Given the description of an element on the screen output the (x, y) to click on. 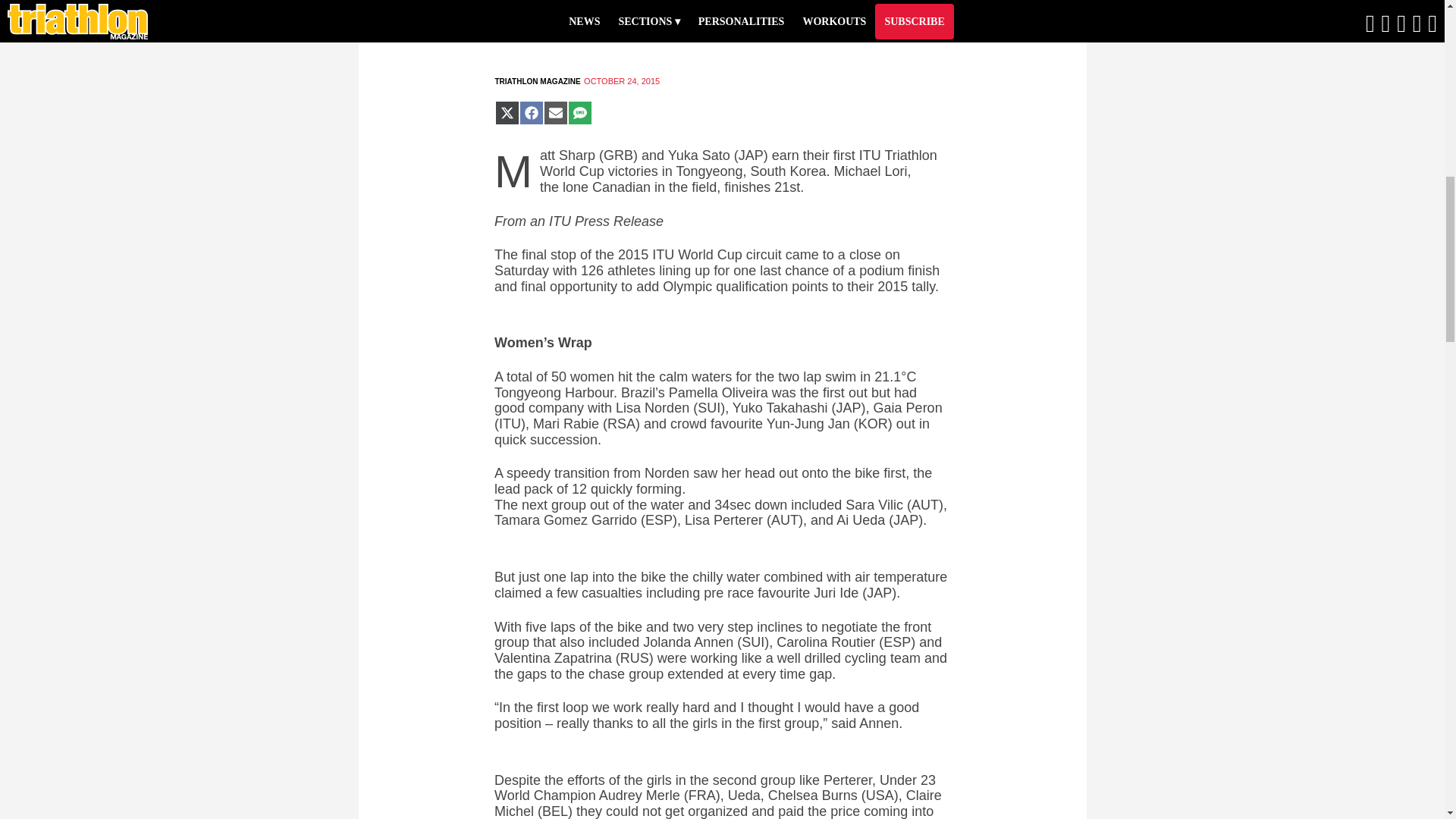
Share on Facebook (530, 112)
Posts by Triathlon Magazine (537, 80)
Share on SMS (579, 112)
Share on Email (555, 112)
TRIATHLON MAGAZINE (537, 80)
